Given the description of an element on the screen output the (x, y) to click on. 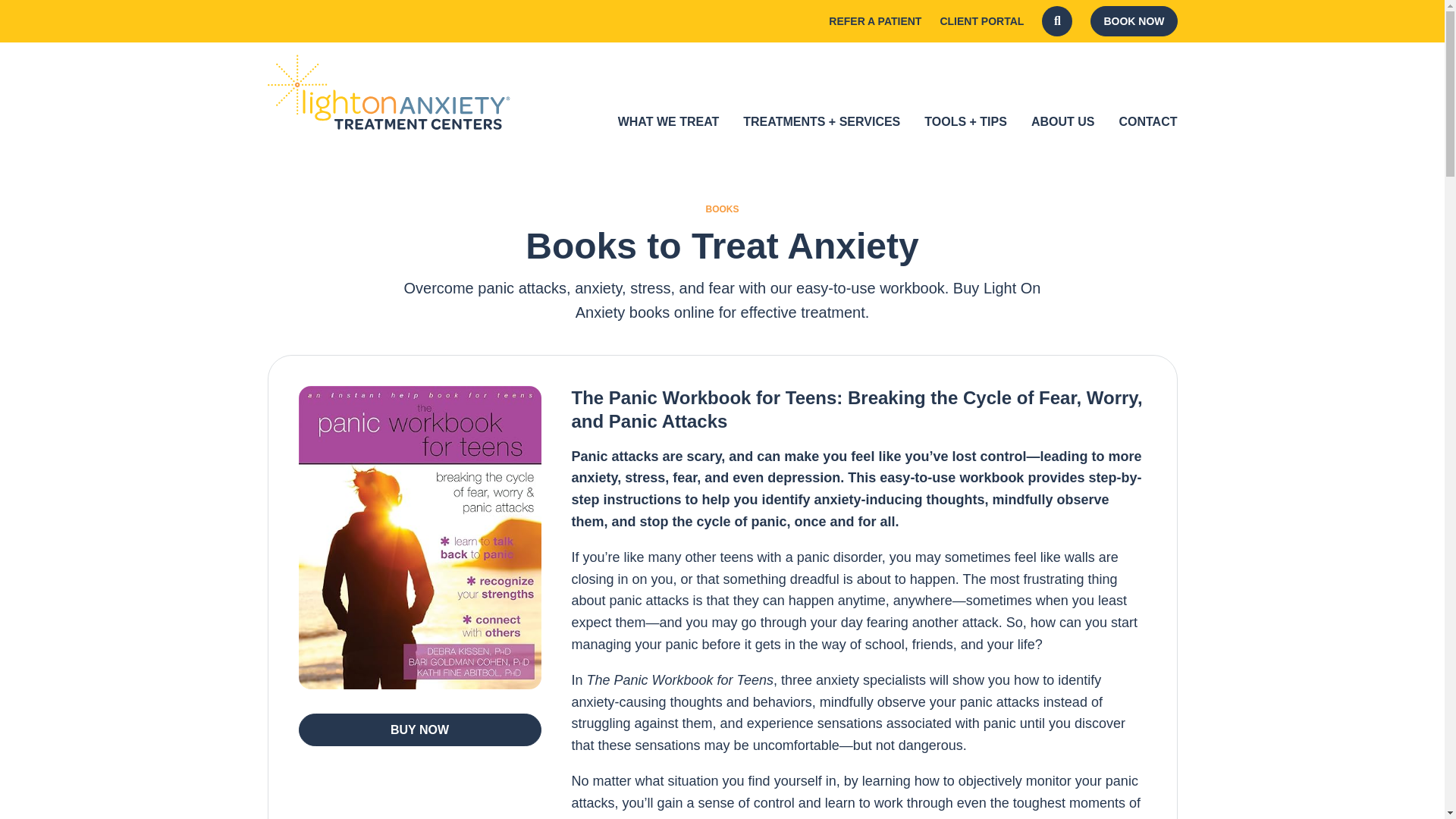
ABOUT US (1062, 121)
BOOK NOW (1133, 20)
CLIENT PORTAL (981, 22)
REFER A PATIENT (874, 22)
WHAT WE TREAT (668, 121)
